Given the description of an element on the screen output the (x, y) to click on. 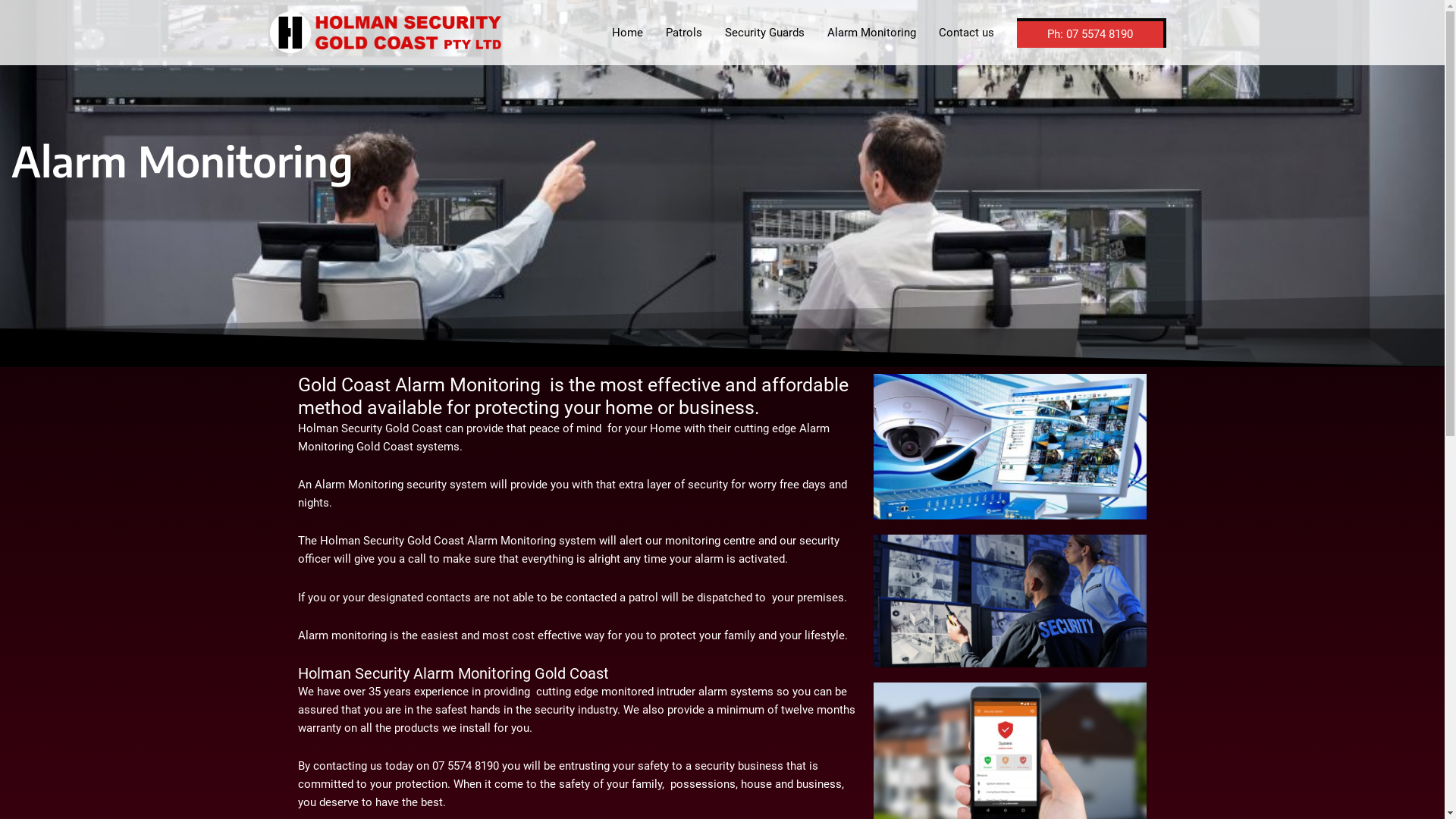
Security Guards Element type: text (763, 32)
Alarm Monitoring Element type: text (871, 32)
Contact us Element type: text (965, 32)
Home Element type: text (627, 32)
Patrols Element type: text (682, 32)
Ph: 07 5574 8190 Element type: text (1090, 32)
